Given the description of an element on the screen output the (x, y) to click on. 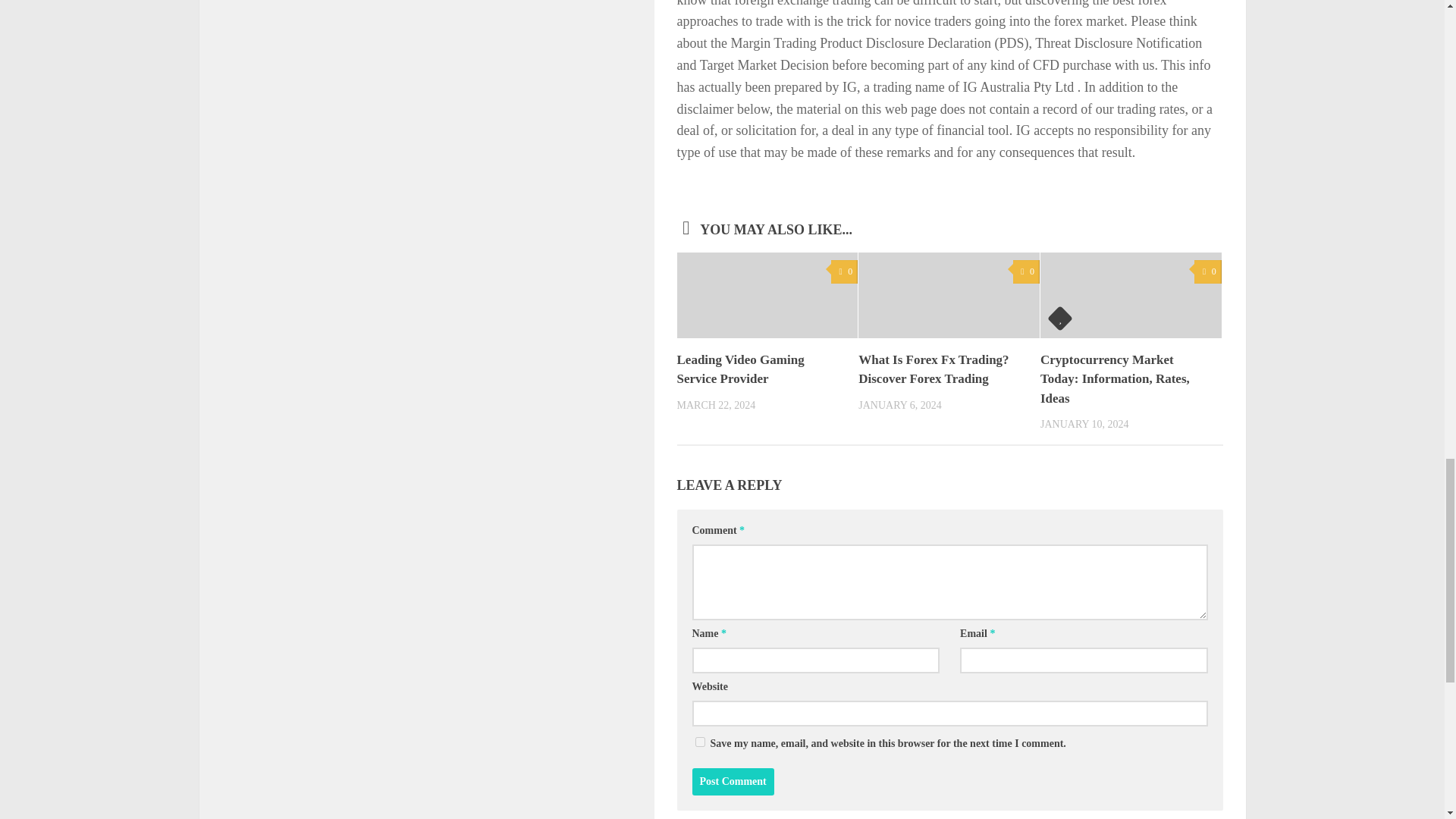
0 (1026, 271)
Leading Video Gaming Service Provider (760, 369)
yes (699, 741)
Post Comment (732, 781)
What Is Forex Fx Trading? Discover Forex Trading (942, 369)
0 (844, 271)
0 (1207, 271)
Cryptocurrency Market Today: Information, Rates, Ideas (1124, 379)
Post Comment (732, 781)
